Given the description of an element on the screen output the (x, y) to click on. 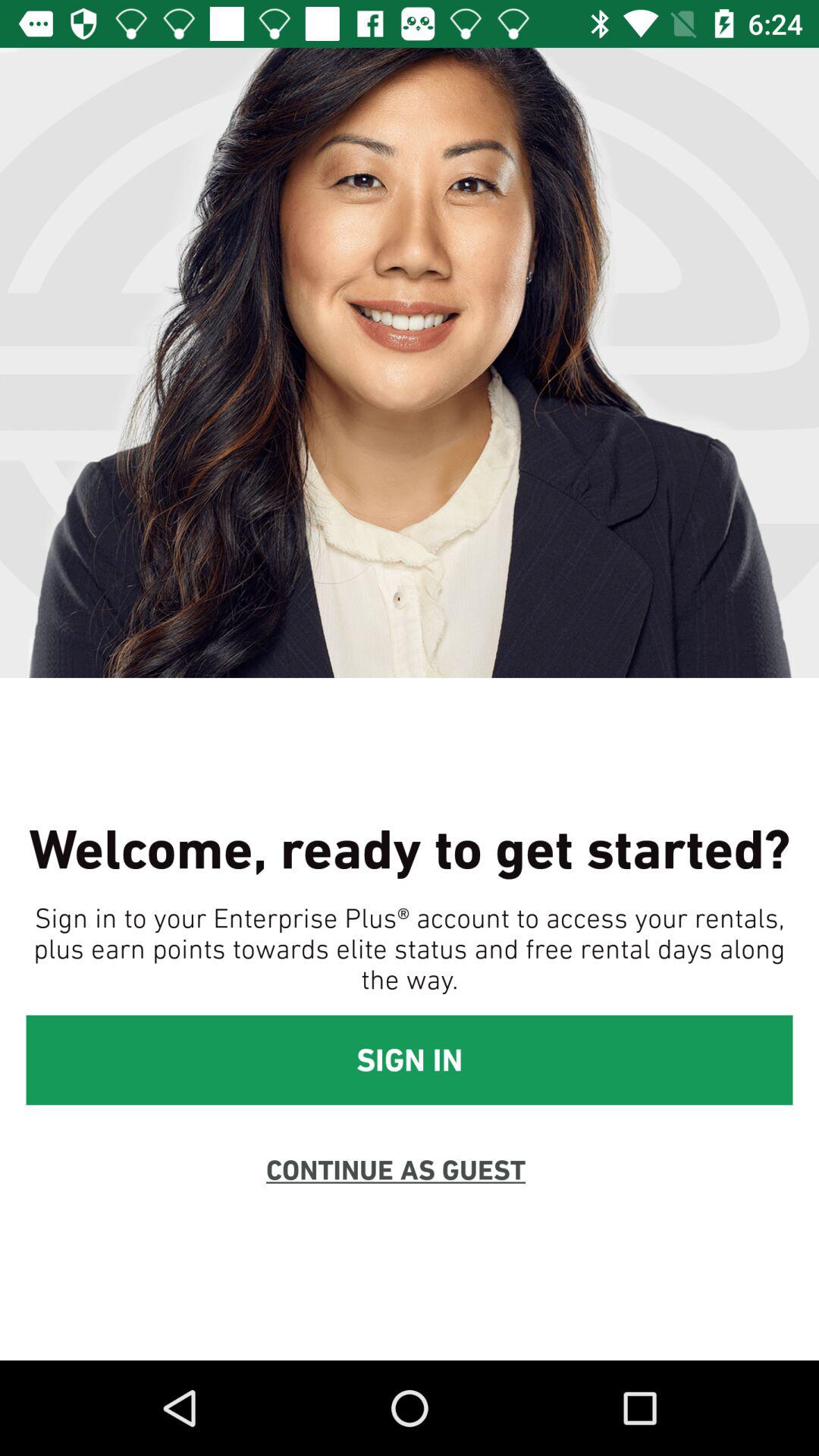
flip to the continue as guest (395, 1169)
